Given the description of an element on the screen output the (x, y) to click on. 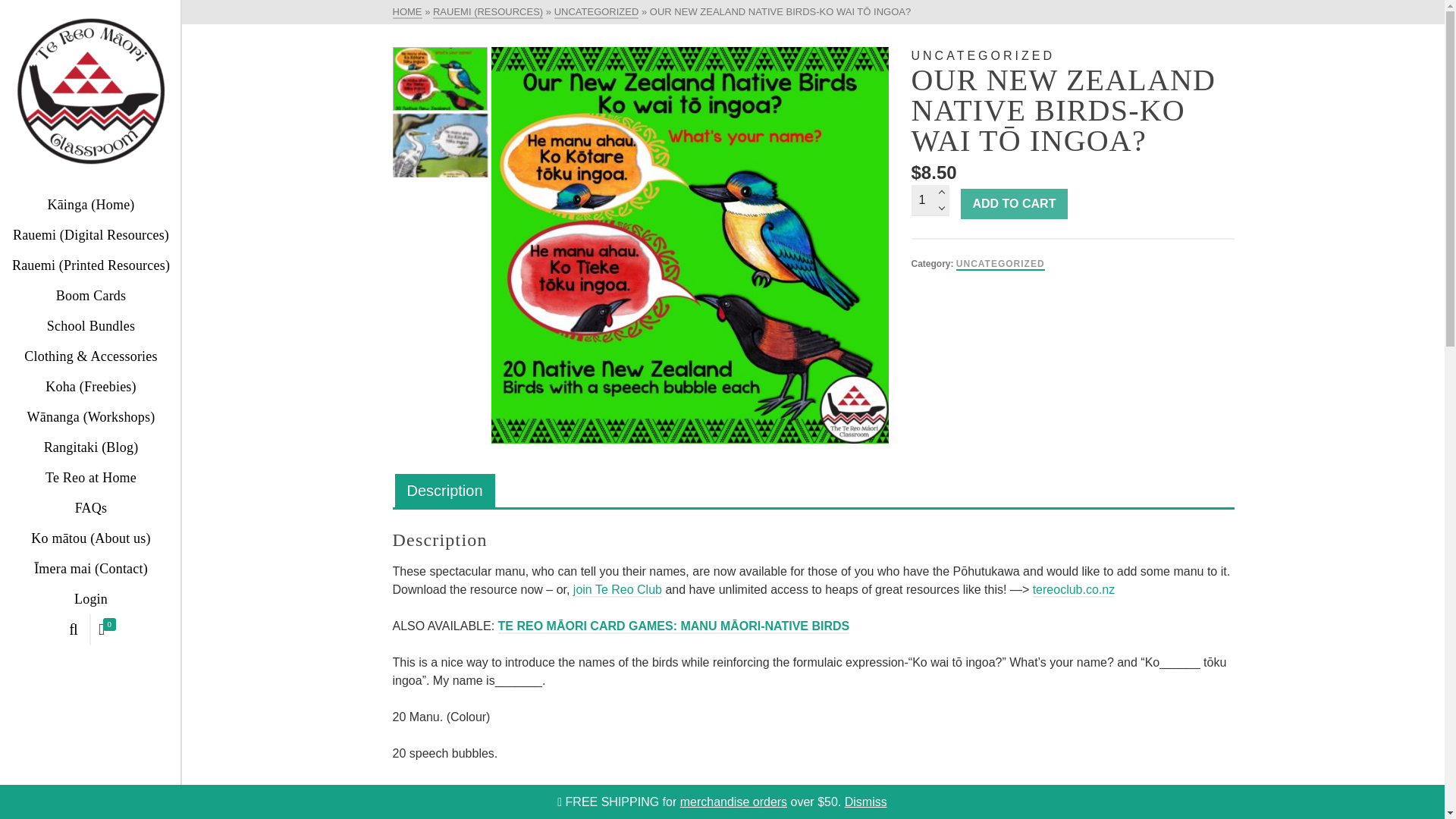
Description (444, 491)
join Te Reo Club (617, 590)
ADD TO CART (1013, 204)
HOME (407, 11)
School Bundles (90, 326)
UNCATEGORIZED (596, 11)
tereoclub.co.nz (1073, 590)
Login (90, 598)
0 (109, 630)
Te Reo at Home (90, 477)
Boom Cards (90, 295)
1 (930, 200)
UNCATEGORIZED (1000, 264)
FAQs (90, 508)
